Given the description of an element on the screen output the (x, y) to click on. 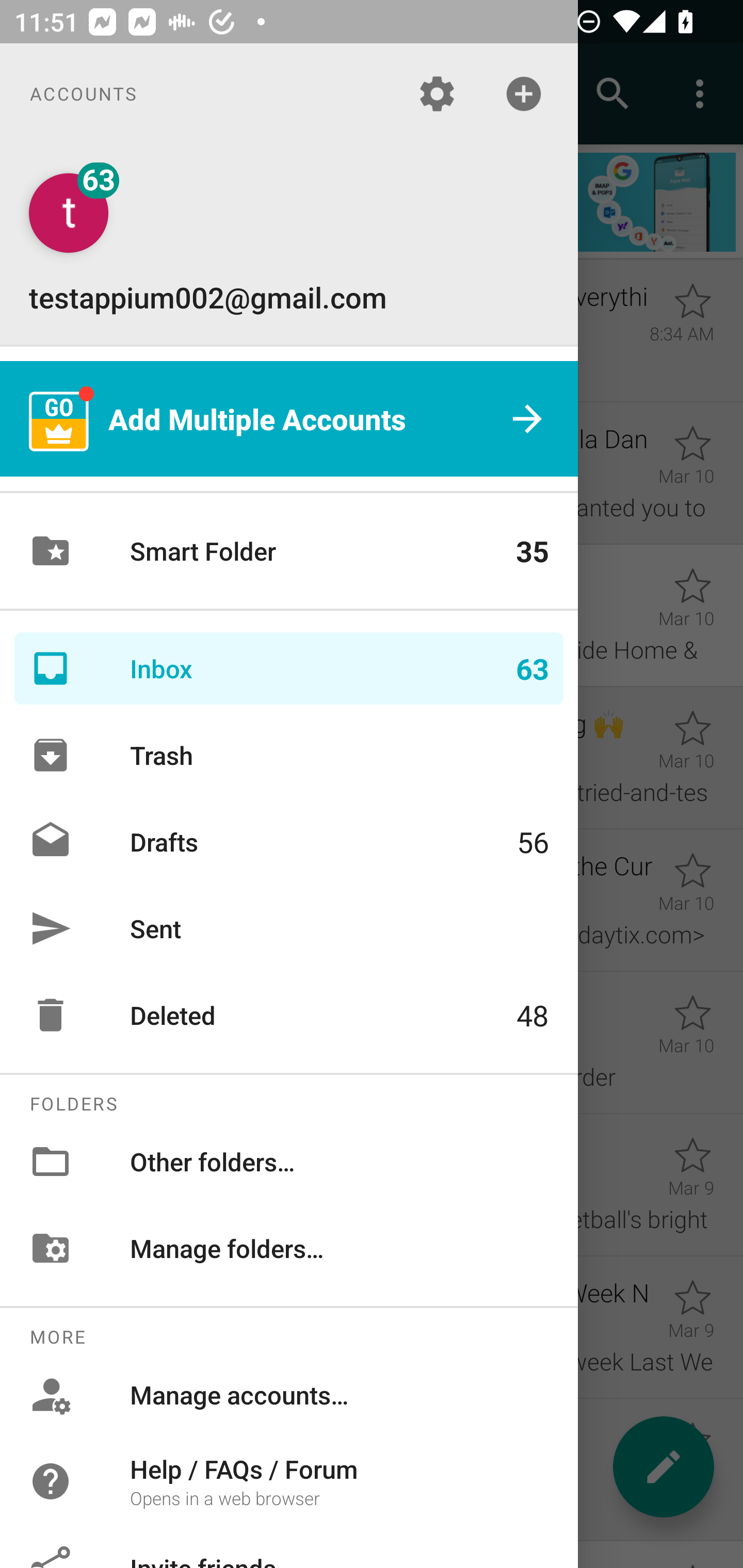
testappium002@gmail.com (289, 244)
Add Multiple Accounts (289, 418)
Smart Folder 35 (289, 551)
Inbox 63 (289, 668)
Trash (289, 754)
Drafts 56 (289, 841)
Sent (289, 928)
Deleted 48 (289, 1015)
Other folders… (289, 1160)
Manage folders… (289, 1248)
Manage accounts… (289, 1394)
Help / FAQs / Forum Opens in a web browser (289, 1480)
